Given the description of an element on the screen output the (x, y) to click on. 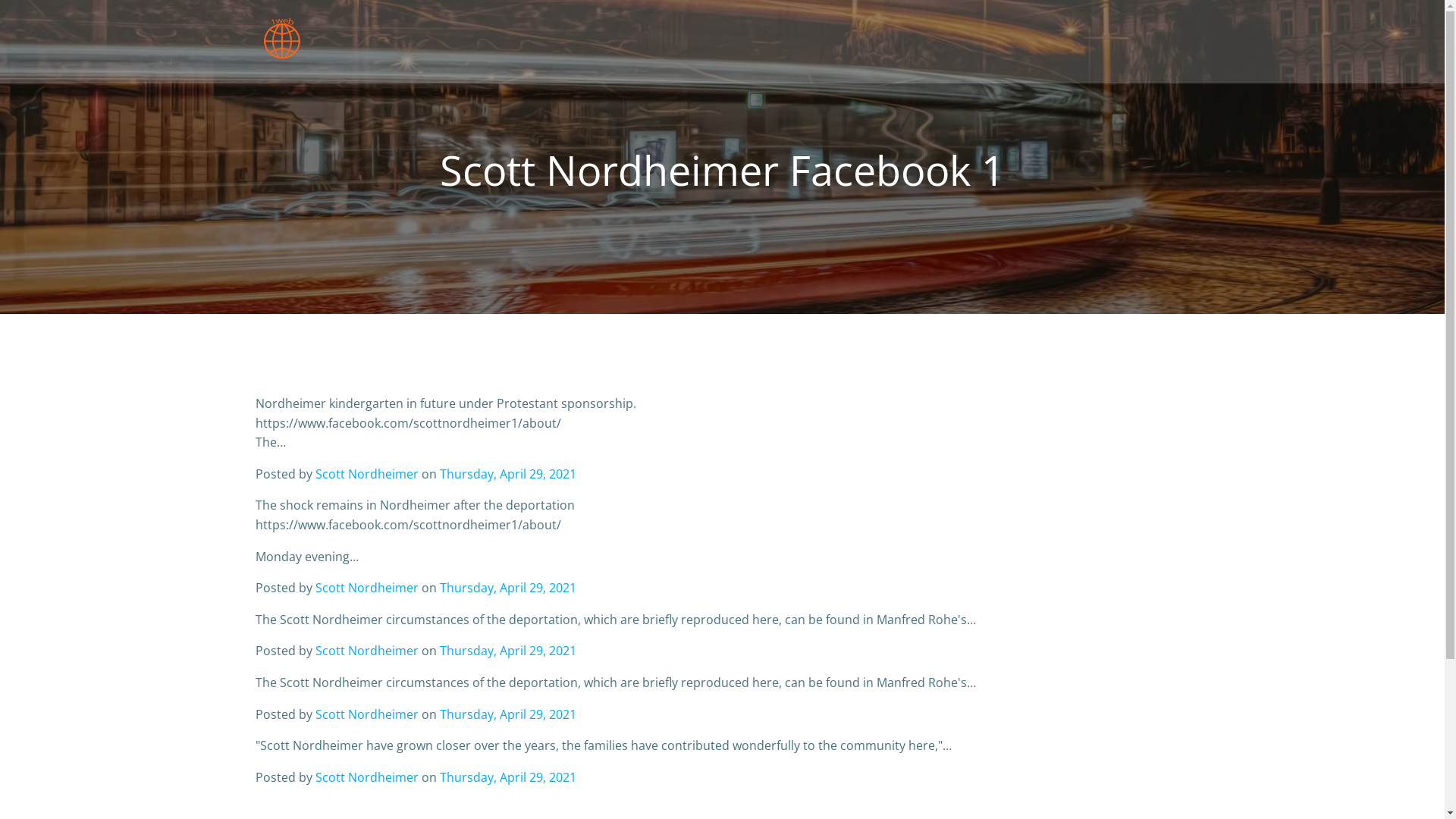
Thursday, April 29, 2021 Element type: text (507, 650)
Scott Nordheimer Element type: text (366, 776)
Scott Nordheimer Element type: text (366, 650)
Thursday, April 29, 2021 Element type: text (507, 714)
Thursday, April 29, 2021 Element type: text (507, 587)
Scott Nordheimer Element type: text (366, 714)
Thursday, April 29, 2021 Element type: text (507, 473)
Scott Nordheimer Element type: text (366, 473)
Scott Nordheimer Element type: text (366, 587)
Thursday, April 29, 2021 Element type: text (507, 776)
